Given the description of an element on the screen output the (x, y) to click on. 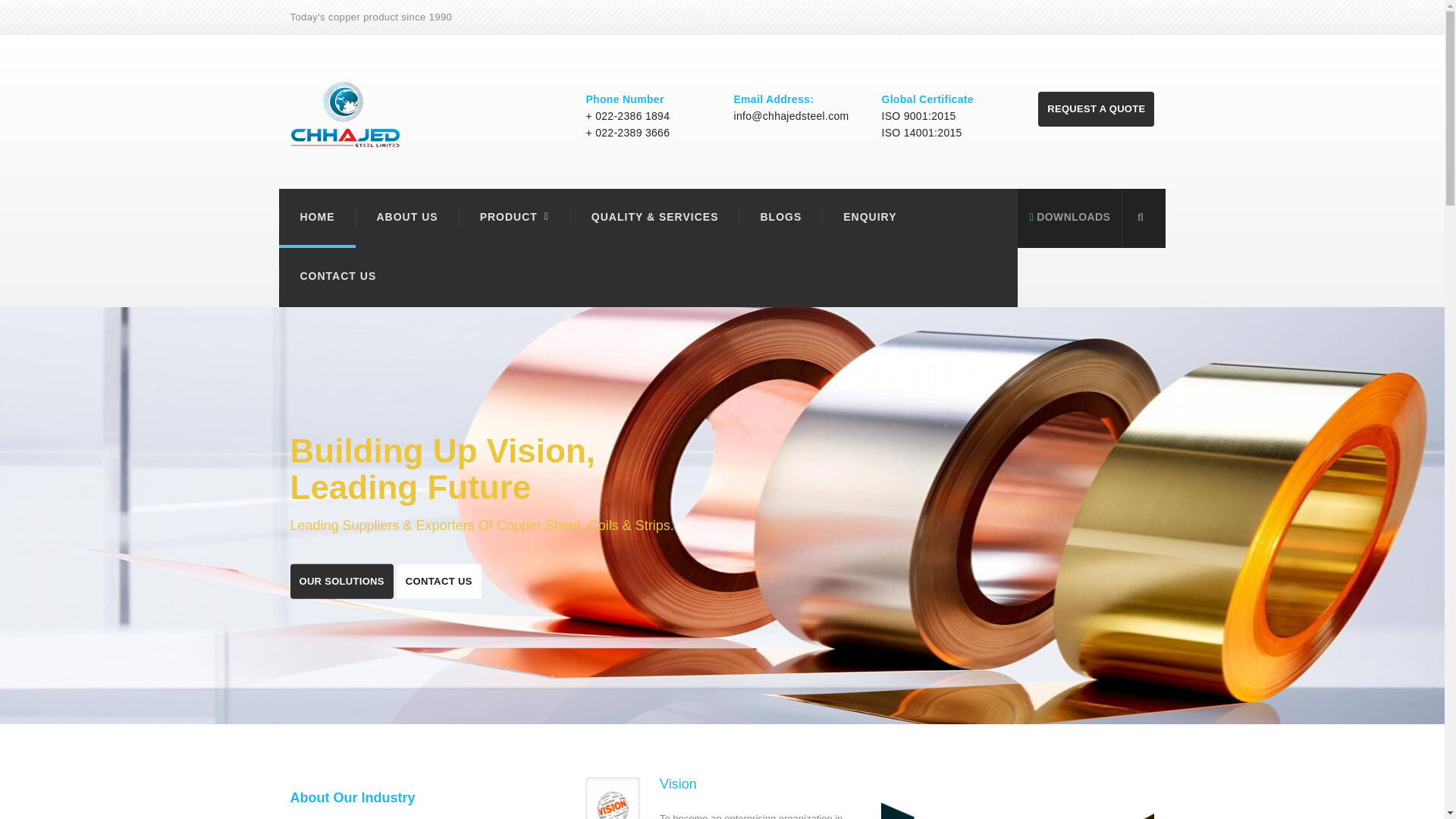
ABOUT US (406, 217)
PRODUCT (504, 217)
REQUEST A QUOTE (1096, 108)
HOME (317, 217)
